Given the description of an element on the screen output the (x, y) to click on. 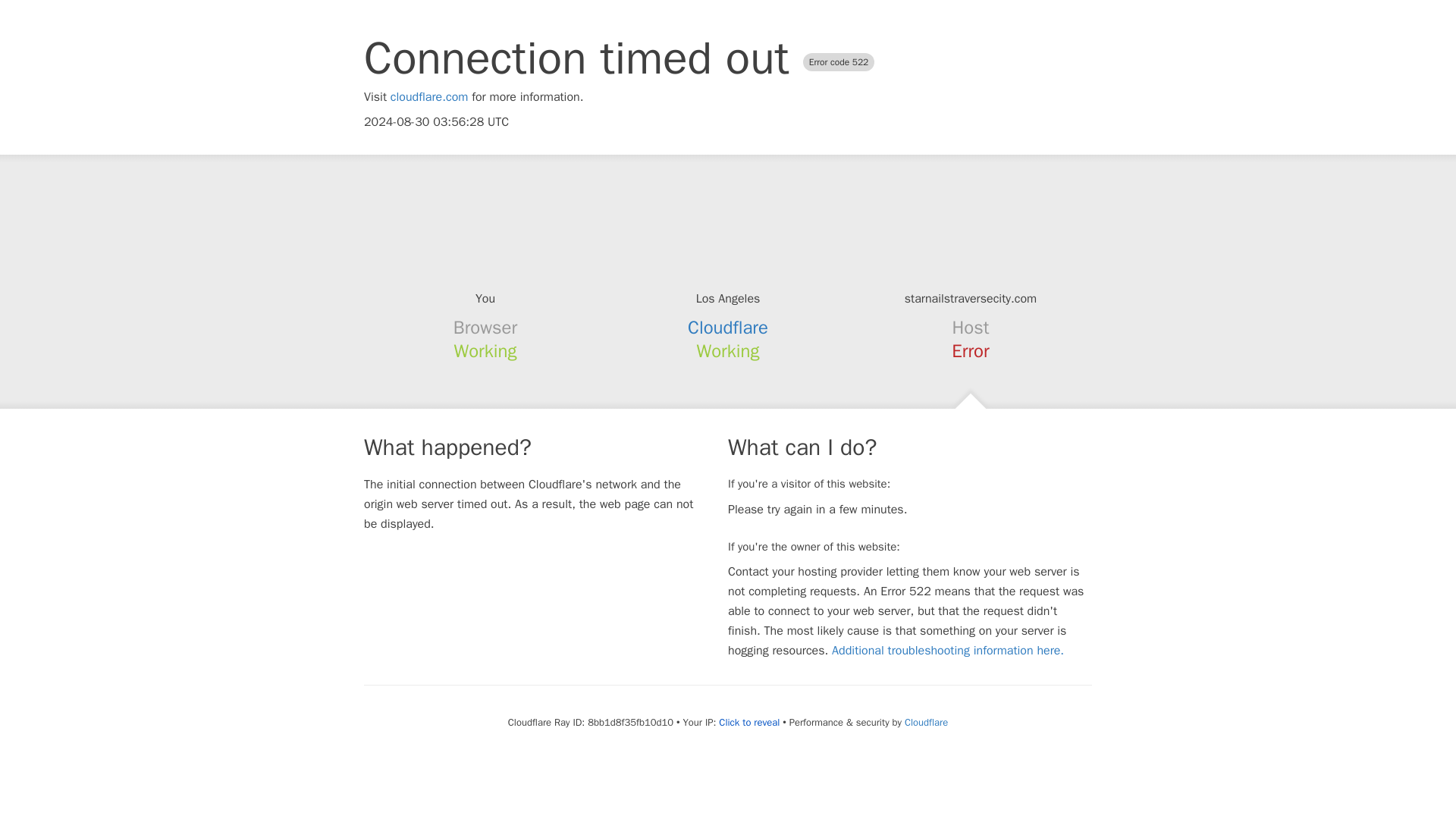
Cloudflare (925, 721)
cloudflare.com (429, 96)
Click to reveal (748, 722)
Cloudflare (727, 327)
Additional troubleshooting information here. (947, 650)
